Given the description of an element on the screen output the (x, y) to click on. 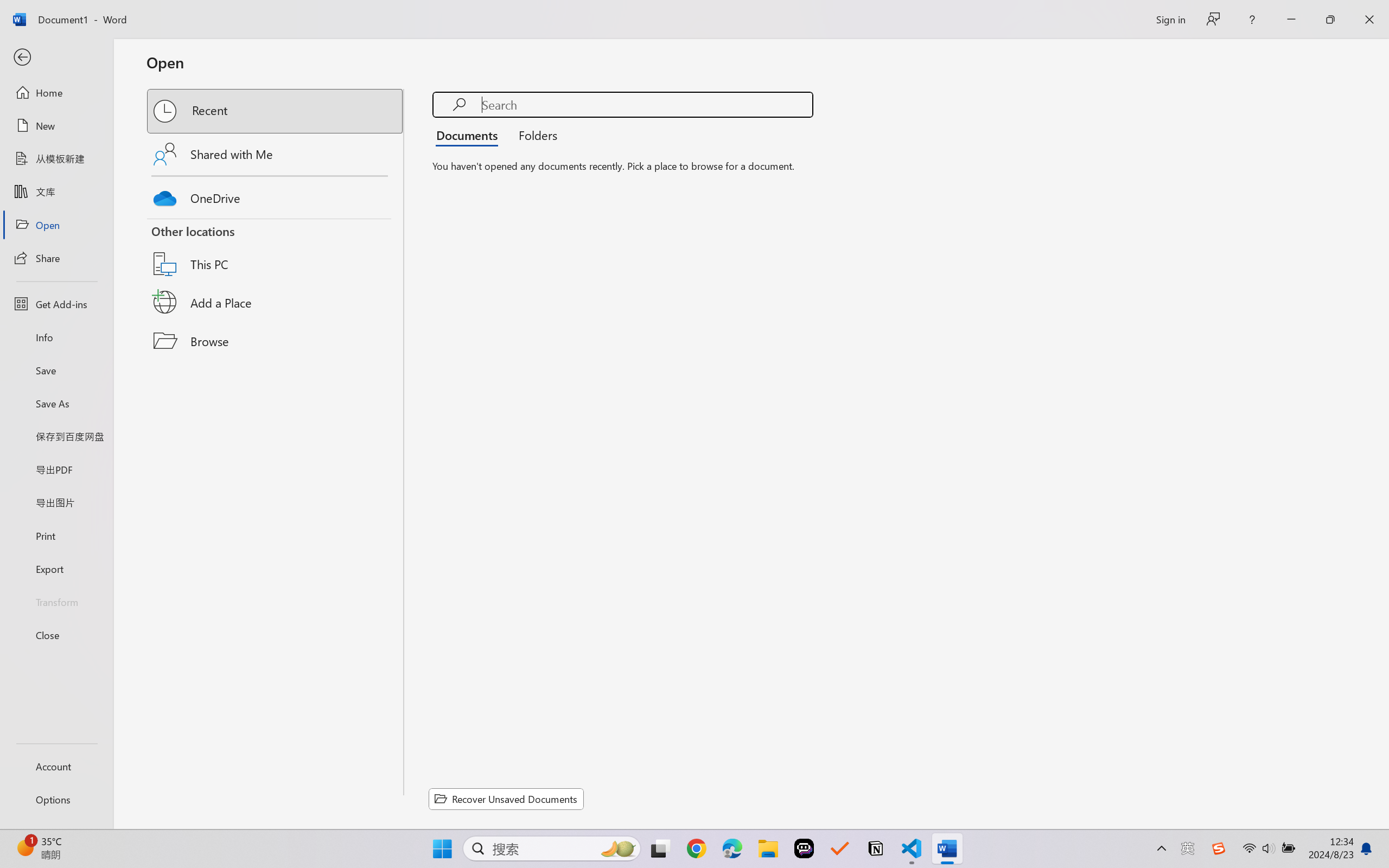
New (56, 125)
OneDrive (275, 195)
Account (56, 765)
Recover Unsaved Documents (506, 798)
Shared with Me (275, 153)
Folders (534, 134)
